Given the description of an element on the screen output the (x, y) to click on. 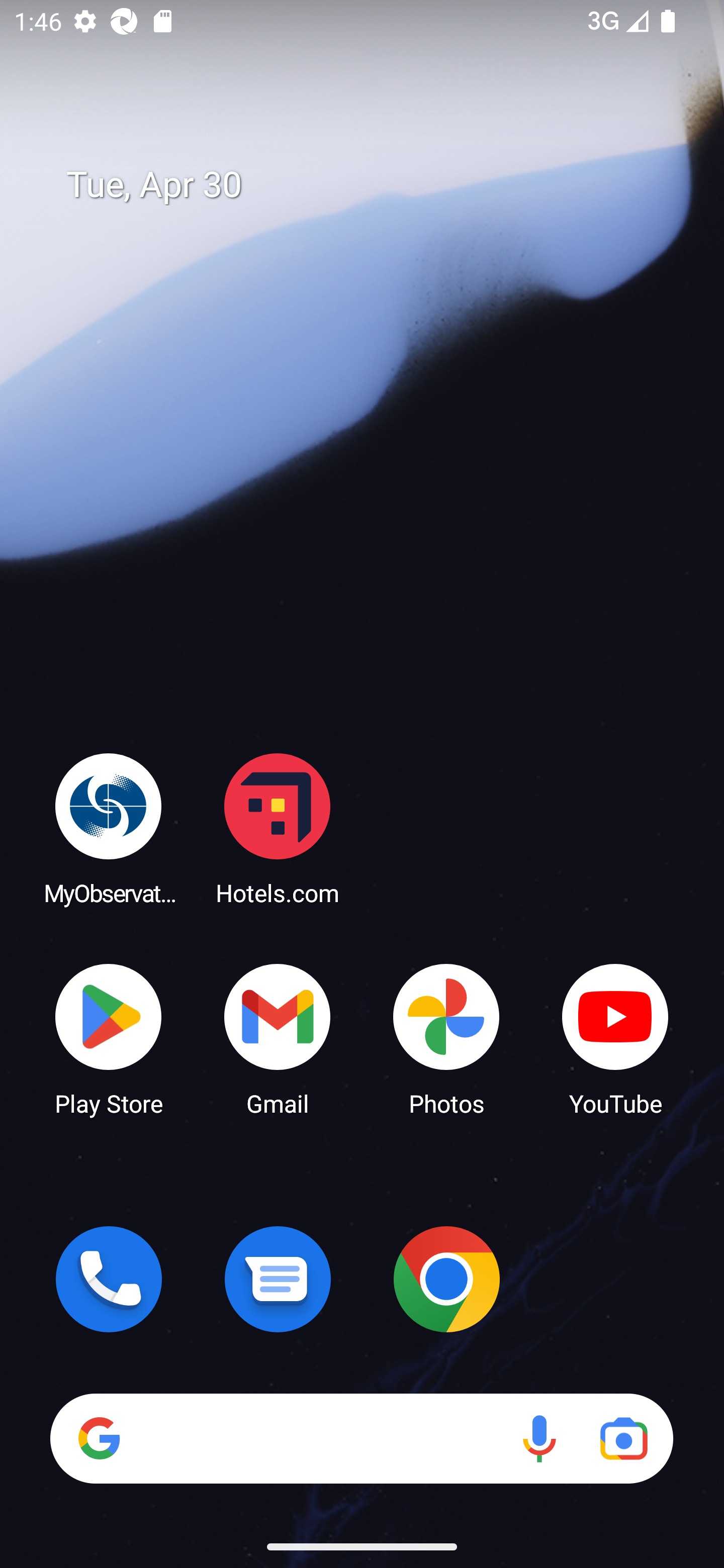
Tue, Apr 30 (375, 184)
MyObservatory (108, 828)
Hotels.com (277, 828)
Play Store (108, 1038)
Gmail (277, 1038)
Photos (445, 1038)
YouTube (615, 1038)
Phone (108, 1279)
Messages (277, 1279)
Chrome (446, 1279)
Voice search (539, 1438)
Google Lens (623, 1438)
